Given the description of an element on the screen output the (x, y) to click on. 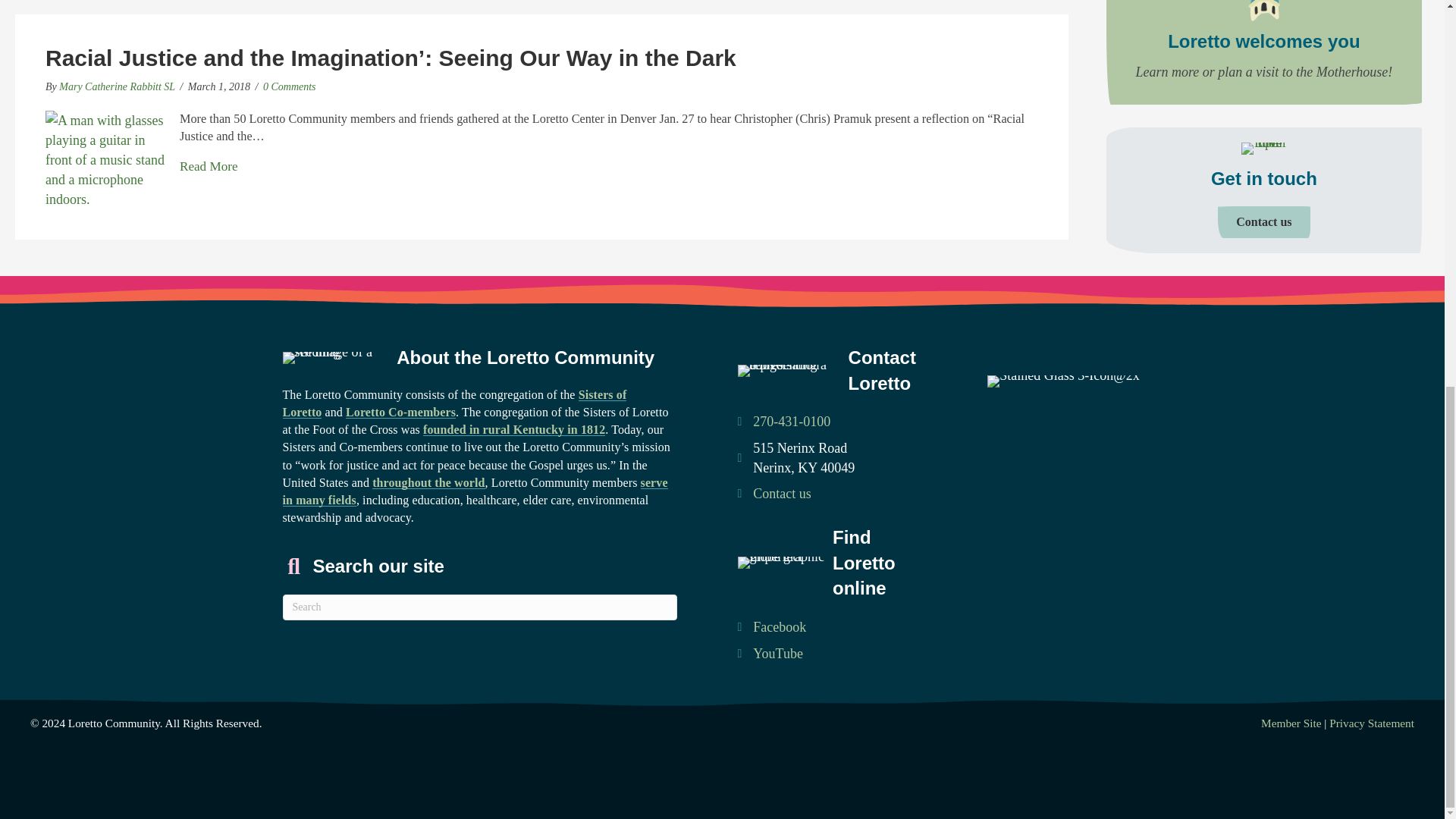
Seedling-Icon (335, 357)
Cupola Cross 2-Icon (1264, 10)
Type and press Enter to search. (479, 606)
Envelope-Icon (1264, 148)
